Given the description of an element on the screen output the (x, y) to click on. 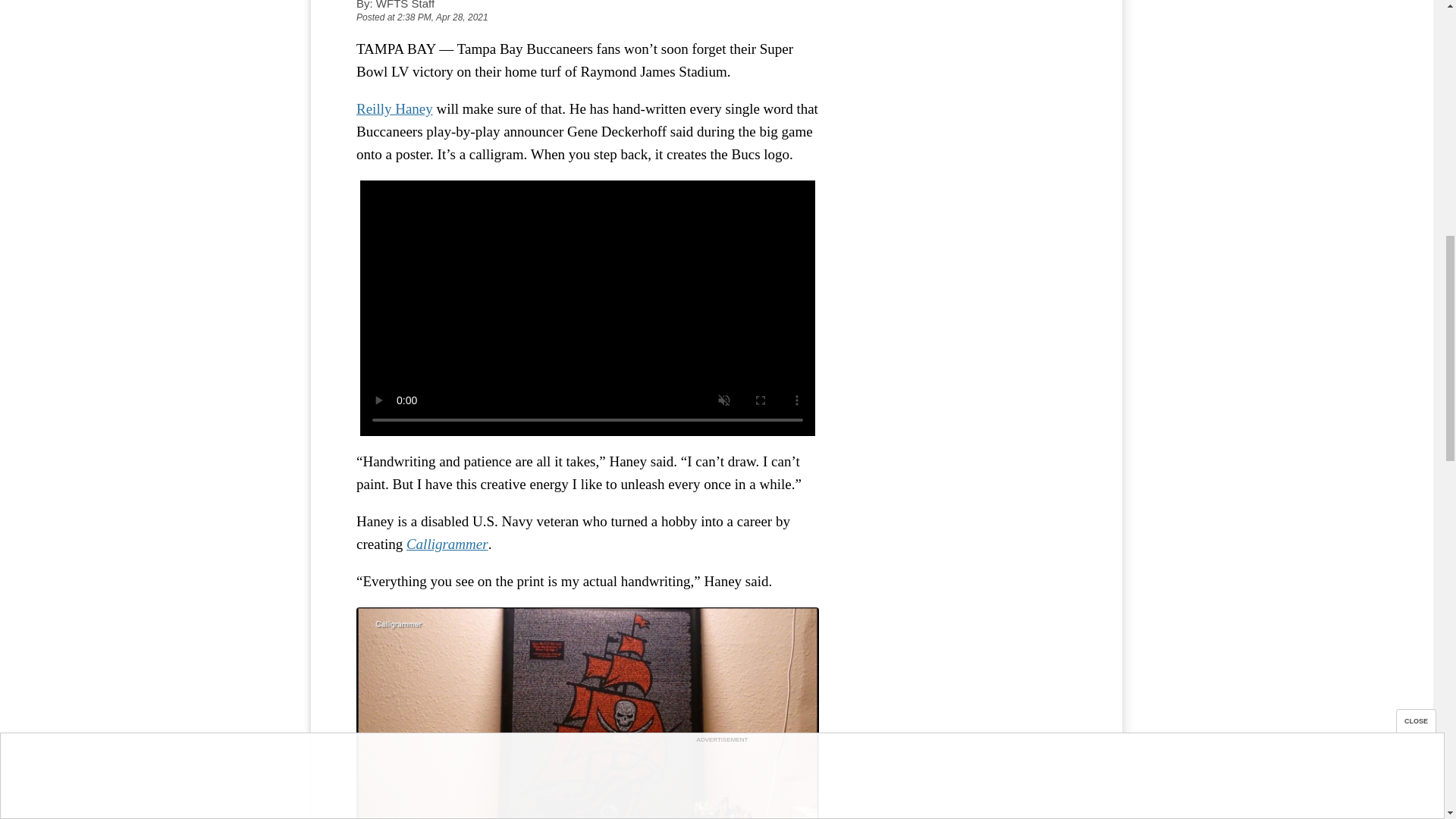
3rd party ad content (962, 71)
